Given the description of an element on the screen output the (x, y) to click on. 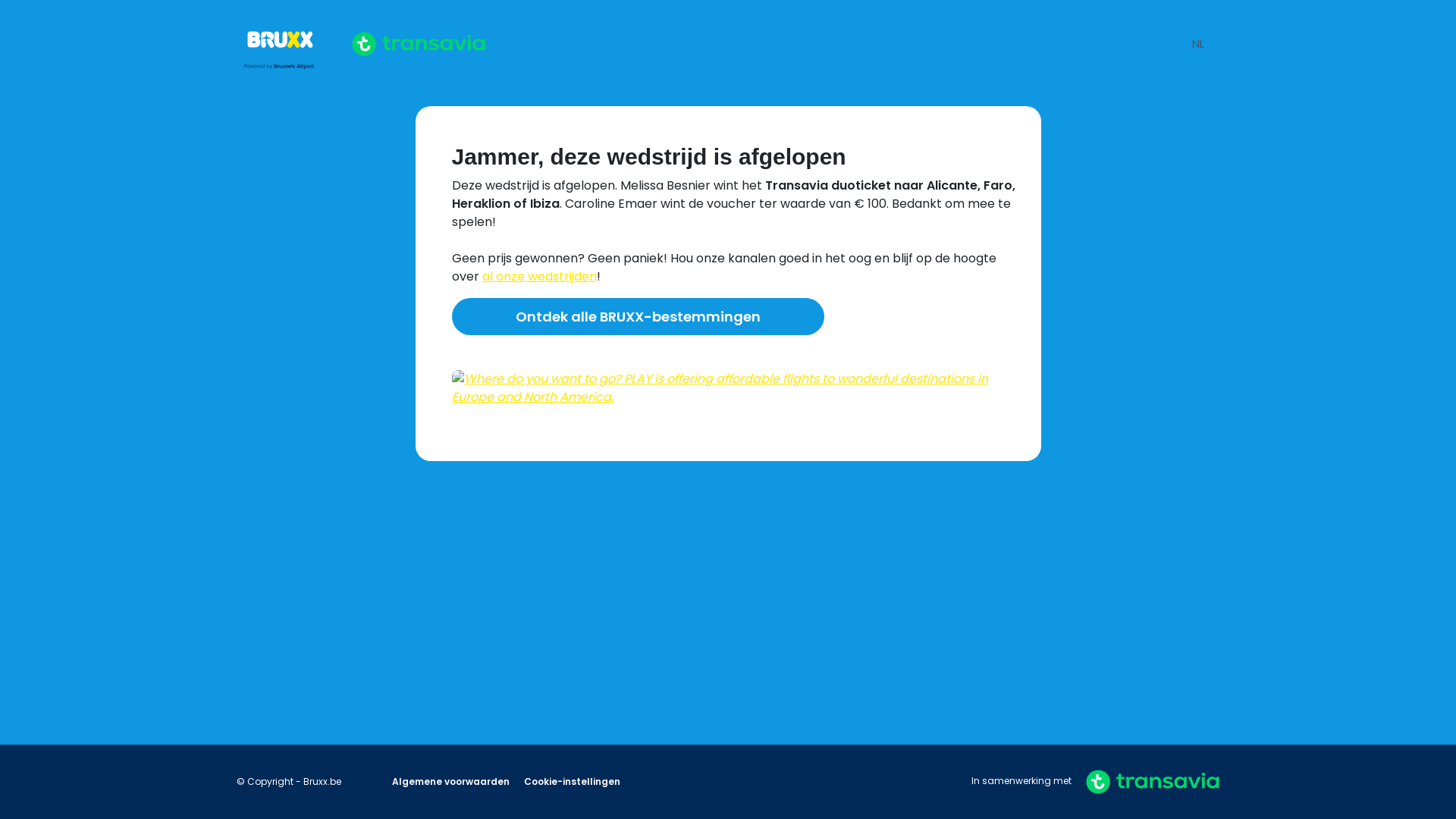
Algemene voorwaarden Element type: text (451, 781)
al onze wedstrijden Element type: text (539, 276)
Ontdek alle BRUXX-bestemmingen Element type: text (637, 316)
Cookie-instellingen Element type: text (572, 781)
NL Element type: text (1203, 43)
